Given the description of an element on the screen output the (x, y) to click on. 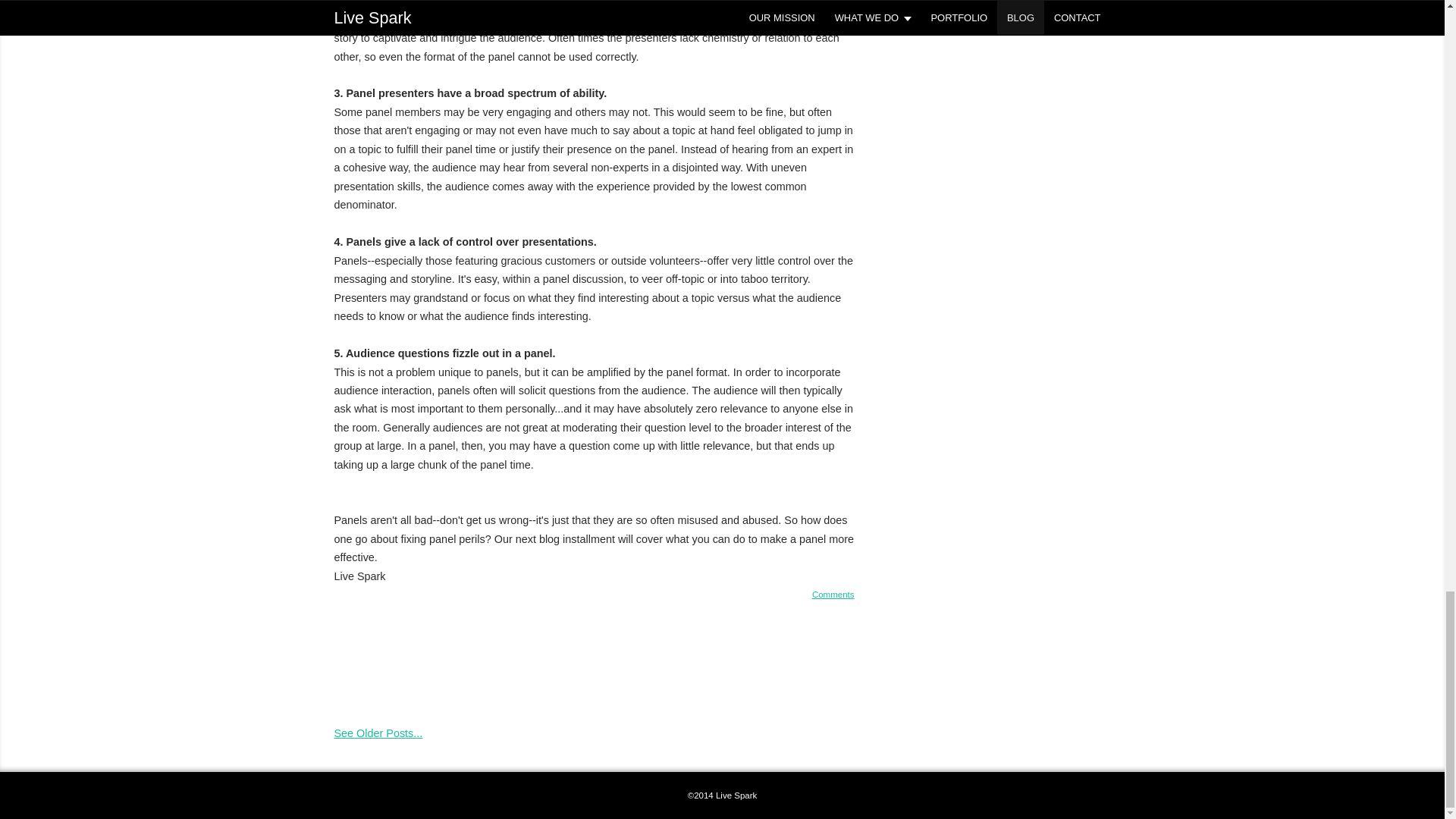
Comments (833, 593)
See Older Posts... (377, 733)
